Given the description of an element on the screen output the (x, y) to click on. 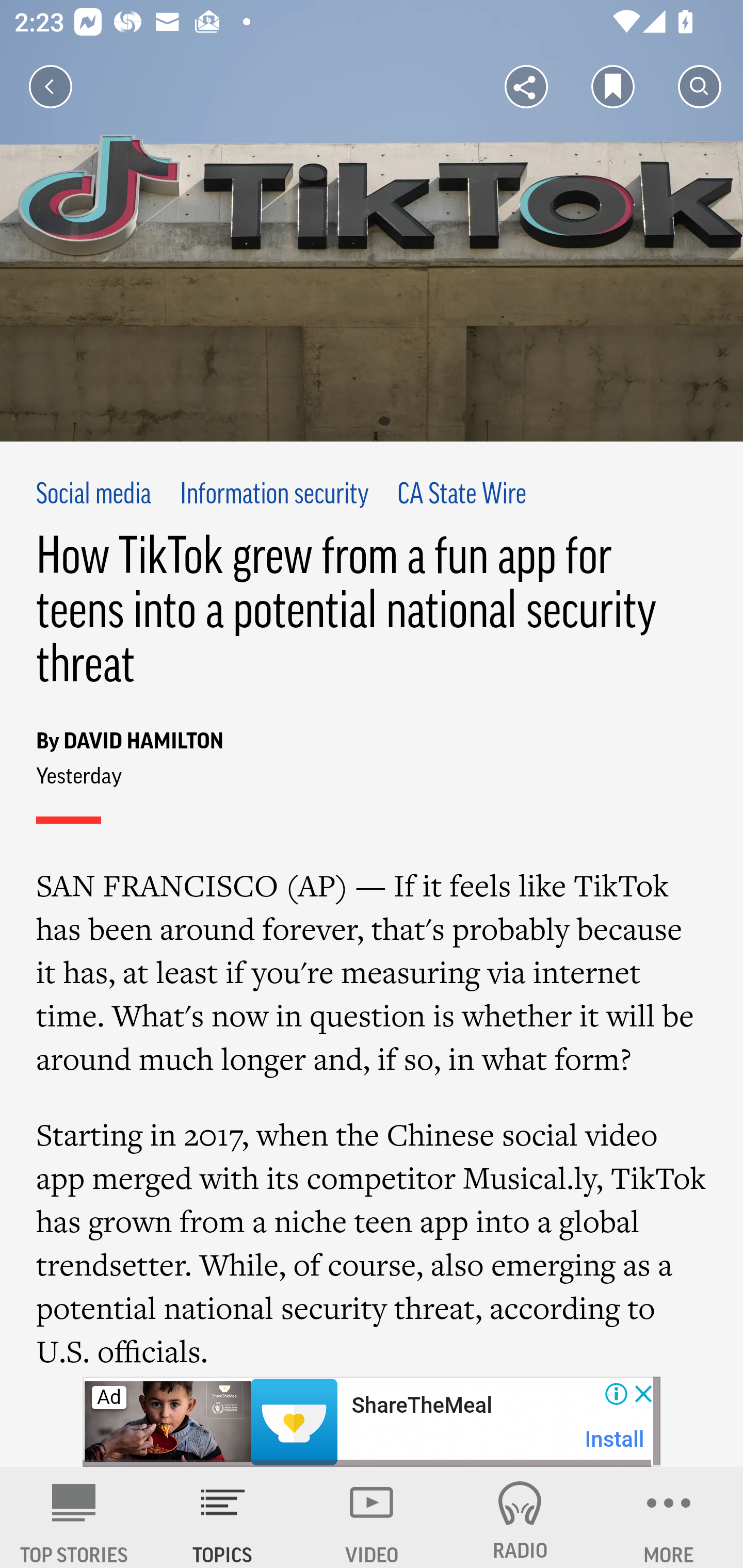
Social media (93, 496)
Information security (274, 496)
CA State Wire (462, 496)
ShareTheMeal (420, 1405)
Install (614, 1438)
AP News TOP STORIES (74, 1517)
TOPICS (222, 1517)
VIDEO (371, 1517)
RADIO (519, 1517)
MORE (668, 1517)
